Given the description of an element on the screen output the (x, y) to click on. 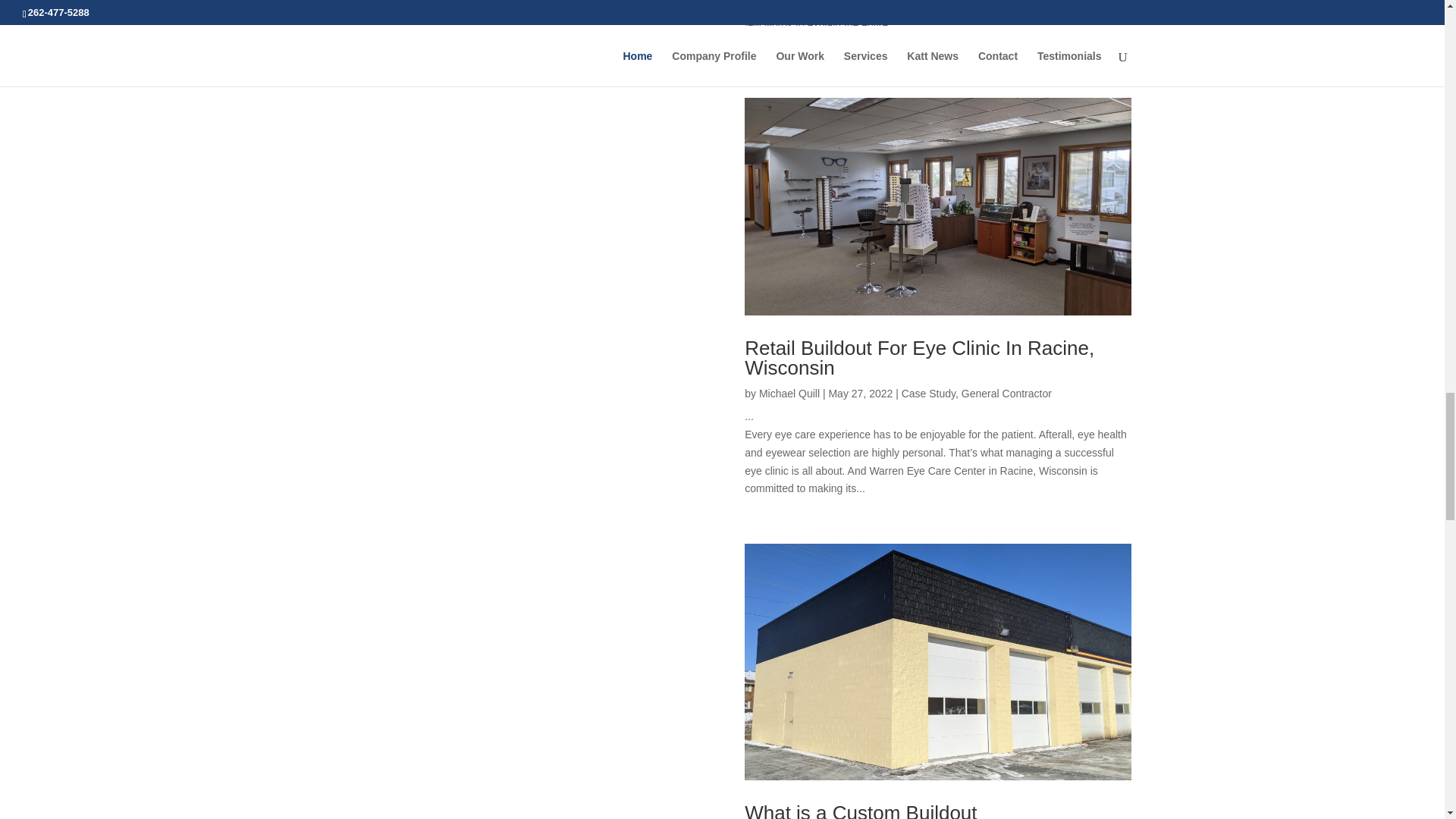
Posts by Michael Quill (788, 393)
